Given the description of an element on the screen output the (x, y) to click on. 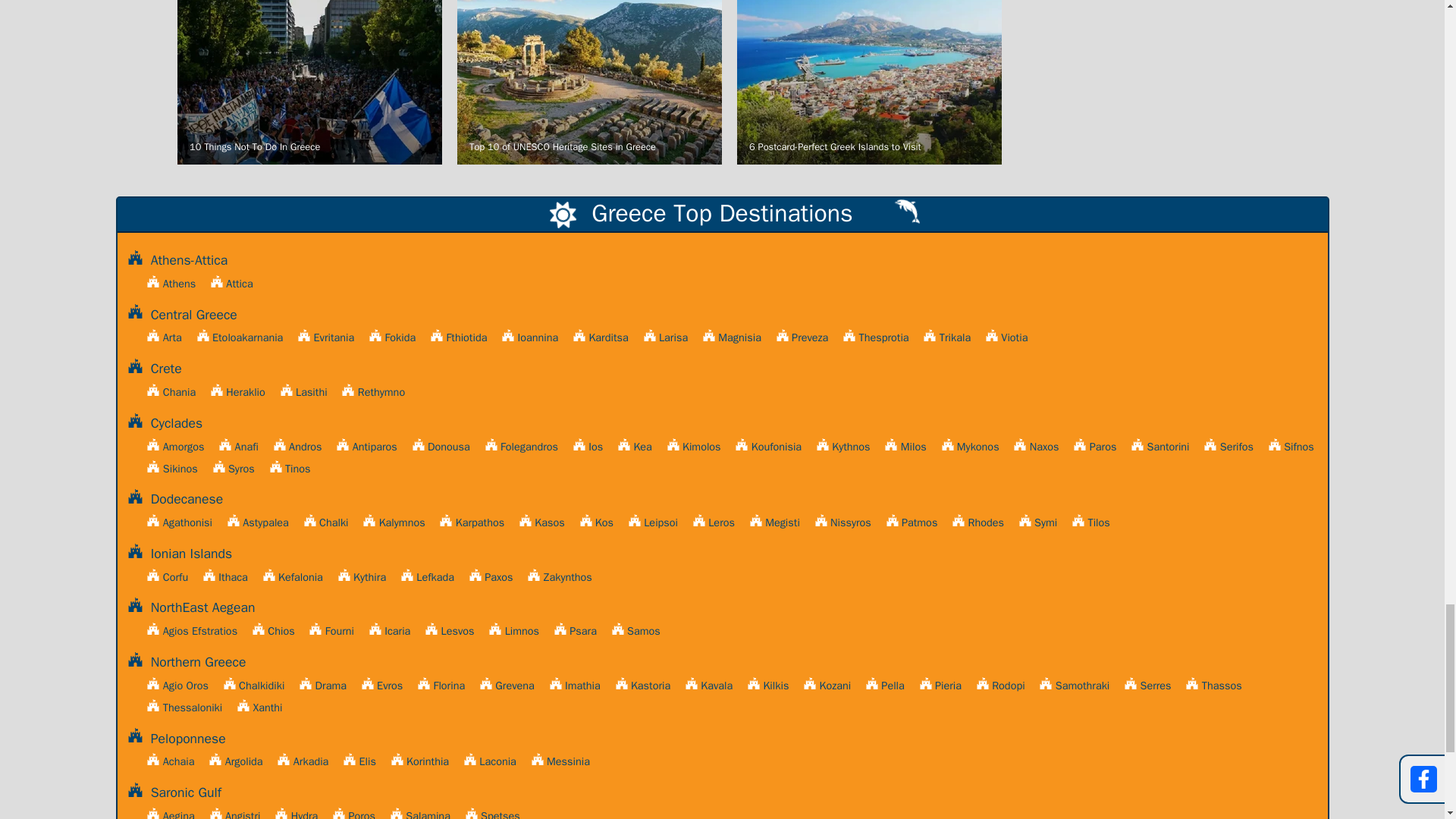
10 Things Not To Do In Greece (309, 85)
6 Postcard-Perfect Greek Islands to Visit (869, 85)
6 Postcard-Perfect Greek Islands to Visit (869, 85)
Top 10 of UNESCO Heritage Sites in Greece (589, 85)
10 Things Not To Do In Greece (309, 85)
Top 10 of UNESCO Heritage Sites in Greece (589, 85)
